Given the description of an element on the screen output the (x, y) to click on. 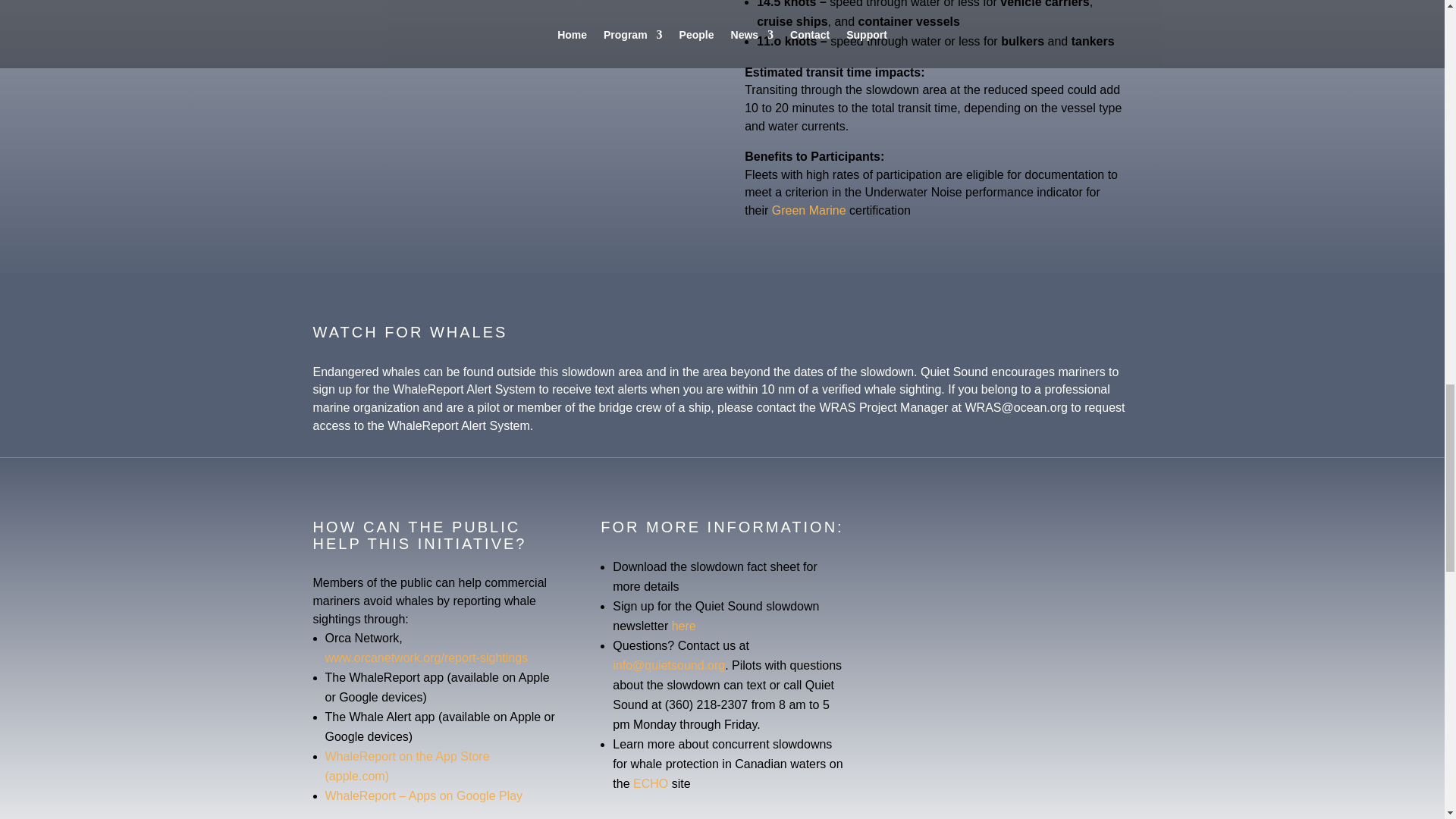
here (683, 625)
Green Marine (809, 210)
ECHO (650, 783)
